Given the description of an element on the screen output the (x, y) to click on. 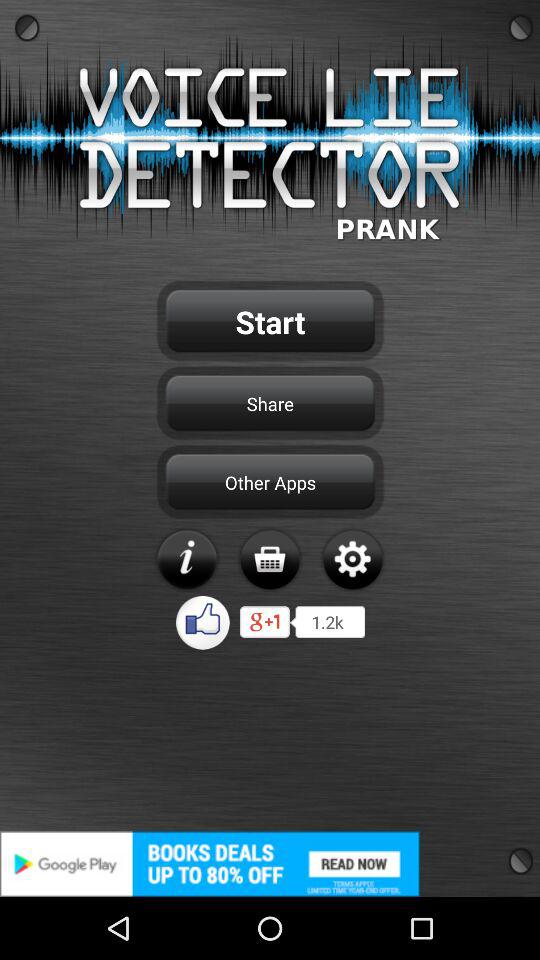
go to setting (352, 559)
